Given the description of an element on the screen output the (x, y) to click on. 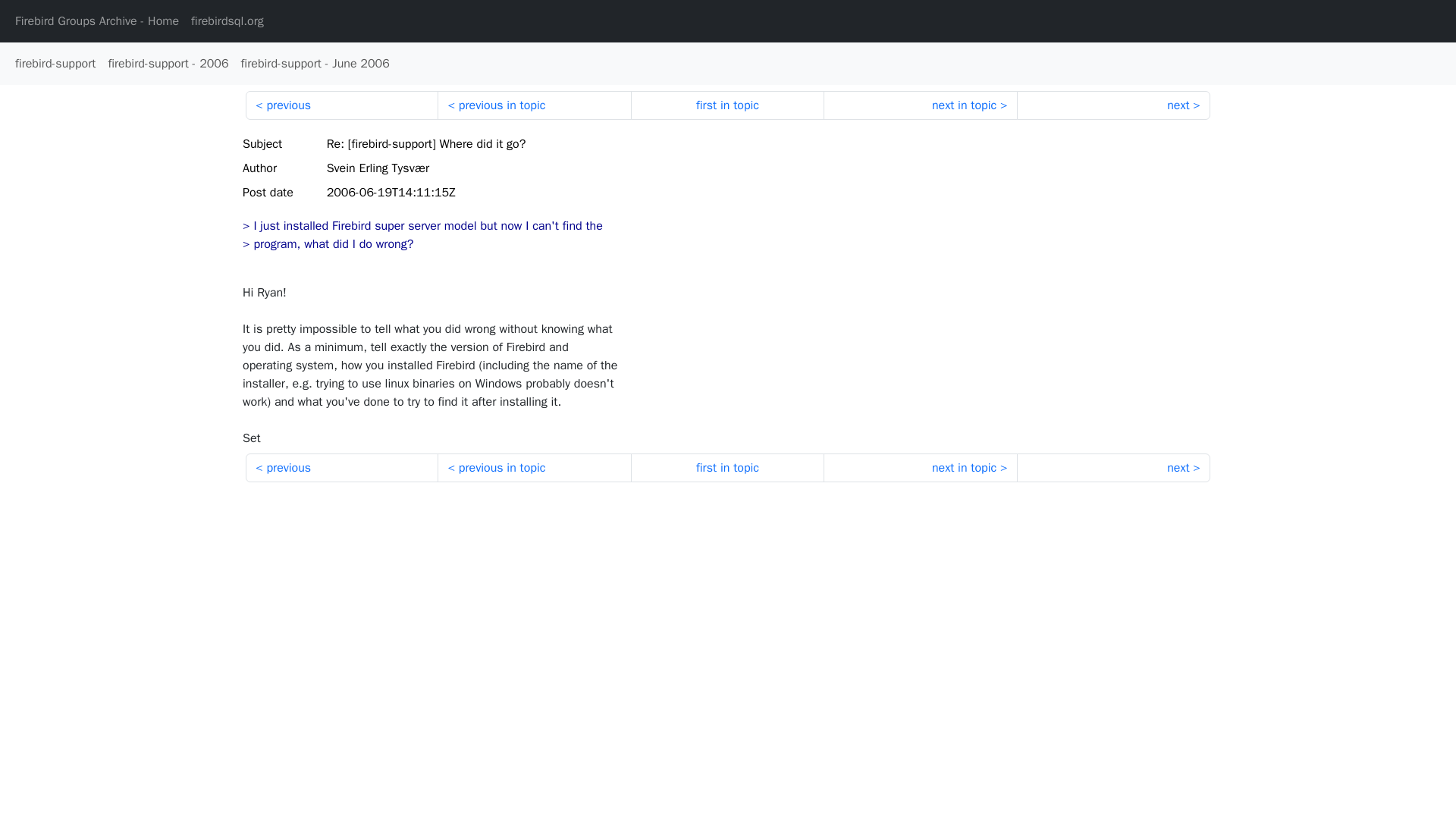
firebird-support - June 2006 (315, 63)
next (1112, 104)
ireply (422, 244)
next in topic (920, 104)
next (1112, 467)
previous (342, 467)
previous in topic (534, 104)
first in topic (727, 467)
previous in topic (534, 467)
firebirdsql.org (226, 20)
